Given the description of an element on the screen output the (x, y) to click on. 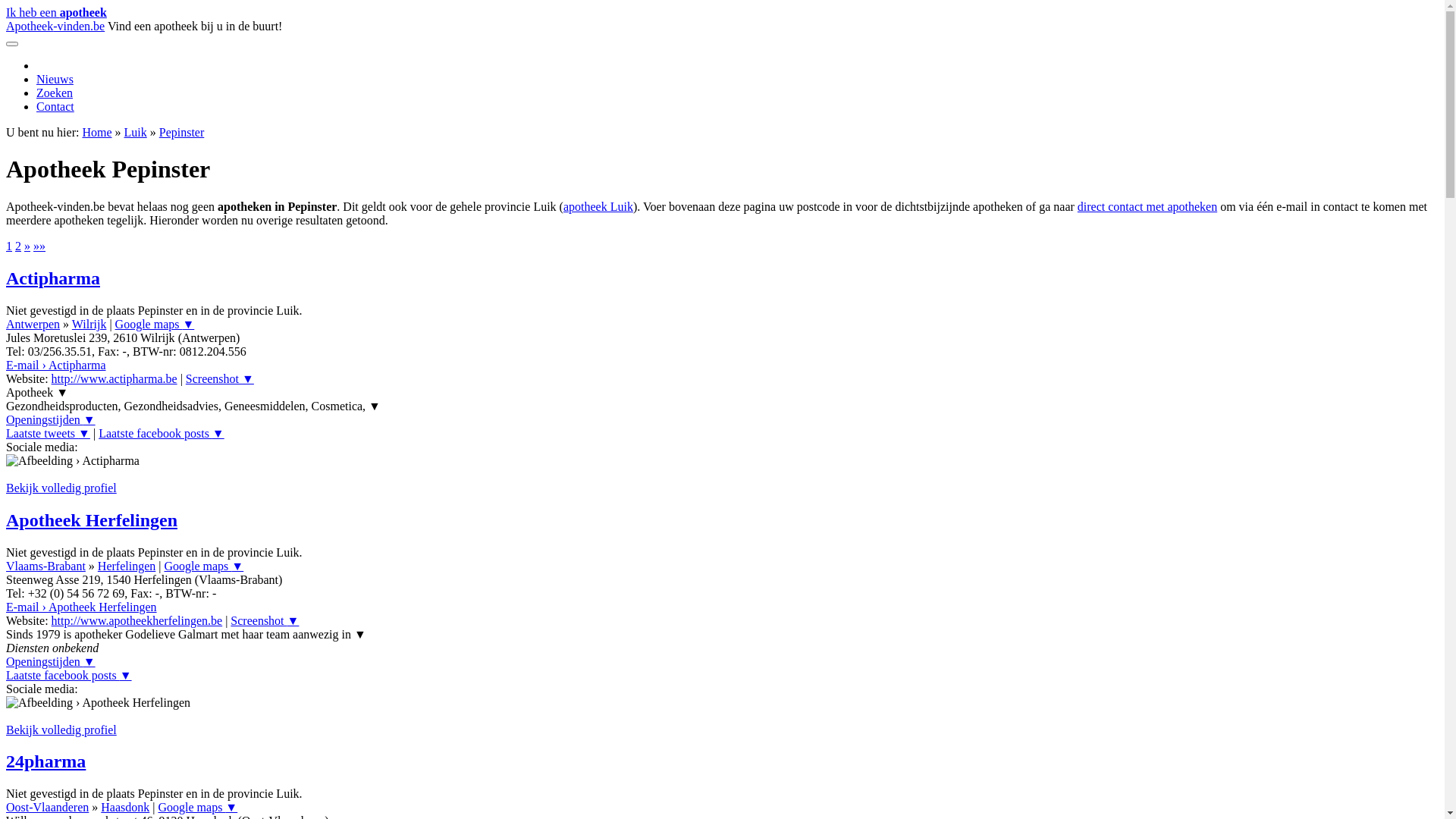
Contact Element type: text (55, 106)
Nieuws Element type: text (54, 78)
2 Element type: text (18, 245)
Bekijk volledig profiel Element type: text (61, 729)
Haasdonk Element type: text (124, 806)
Wilrijk Element type: text (89, 323)
Antwerpen Element type: text (32, 323)
http://www.apotheekherfelingen.be Element type: text (136, 620)
Oost-Vlaanderen Element type: text (47, 806)
Herfelingen Element type: text (126, 565)
apotheek Luik Element type: text (598, 206)
Vlaams-Brabant Element type: text (45, 565)
24pharma Element type: text (45, 761)
Apotheek-vinden.be Element type: text (55, 25)
Luik Element type: text (135, 131)
direct contact met apotheken Element type: text (1147, 206)
Actipharma Element type: text (53, 278)
Home Element type: text (96, 131)
http://www.actipharma.be Element type: text (114, 378)
Zoeken Element type: text (54, 92)
Pepinster Element type: text (181, 131)
1 Element type: text (9, 245)
Apotheek Herfelingen Element type: text (91, 520)
Ik heb een apotheek Element type: text (56, 12)
Bekijk volledig profiel Element type: text (61, 487)
